Given the description of an element on the screen output the (x, y) to click on. 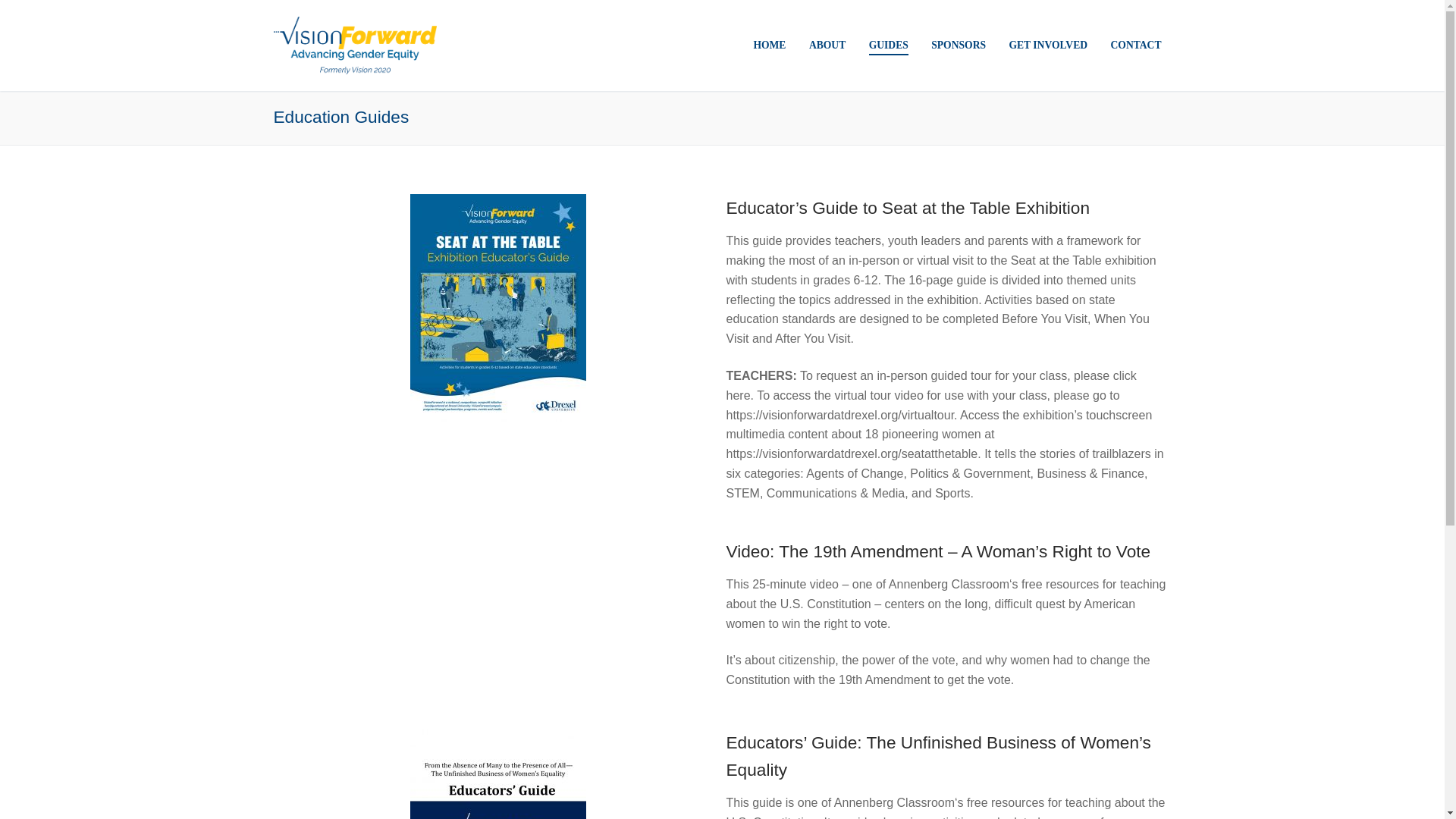
SPONSORS (958, 45)
HOME (768, 45)
ABOUT (827, 45)
CONTACT (1136, 45)
GET INVOLVED (1047, 45)
GUIDES (888, 45)
